Given the description of an element on the screen output the (x, y) to click on. 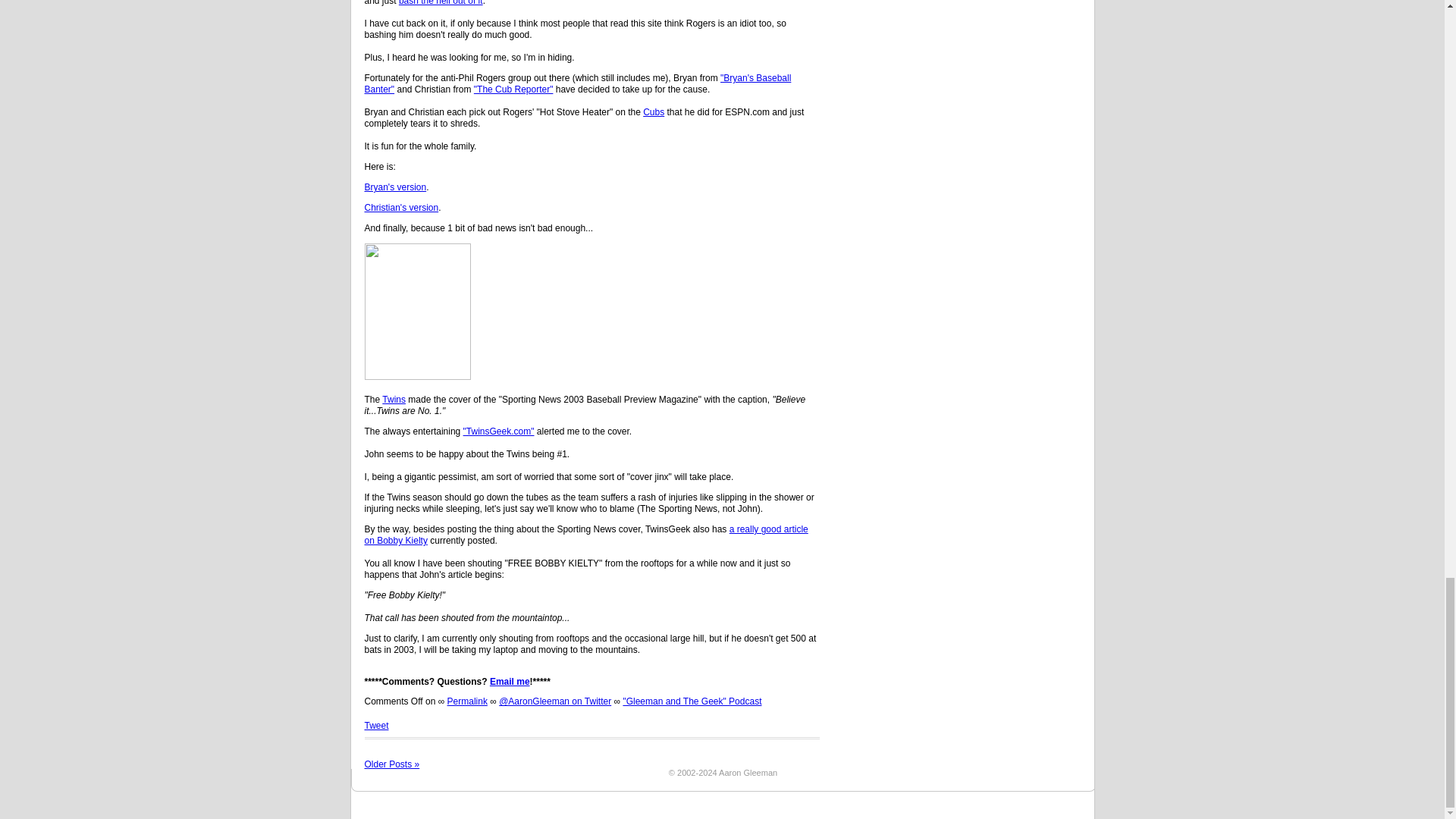
Tweet (376, 725)
Email me (509, 681)
"Gleeman and The Geek" Podcast (692, 701)
Twins (393, 398)
a really good article on Bobby Kielty (586, 535)
"TwinsGeek.com" (498, 430)
Cubs (653, 112)
Permalink (466, 701)
Bryan's version (395, 186)
bash the hell out of it (440, 2)
Christian's version (401, 207)
"Bryan's Baseball Banter" (577, 83)
"The Cub Reporter" (513, 89)
